Given the description of an element on the screen output the (x, y) to click on. 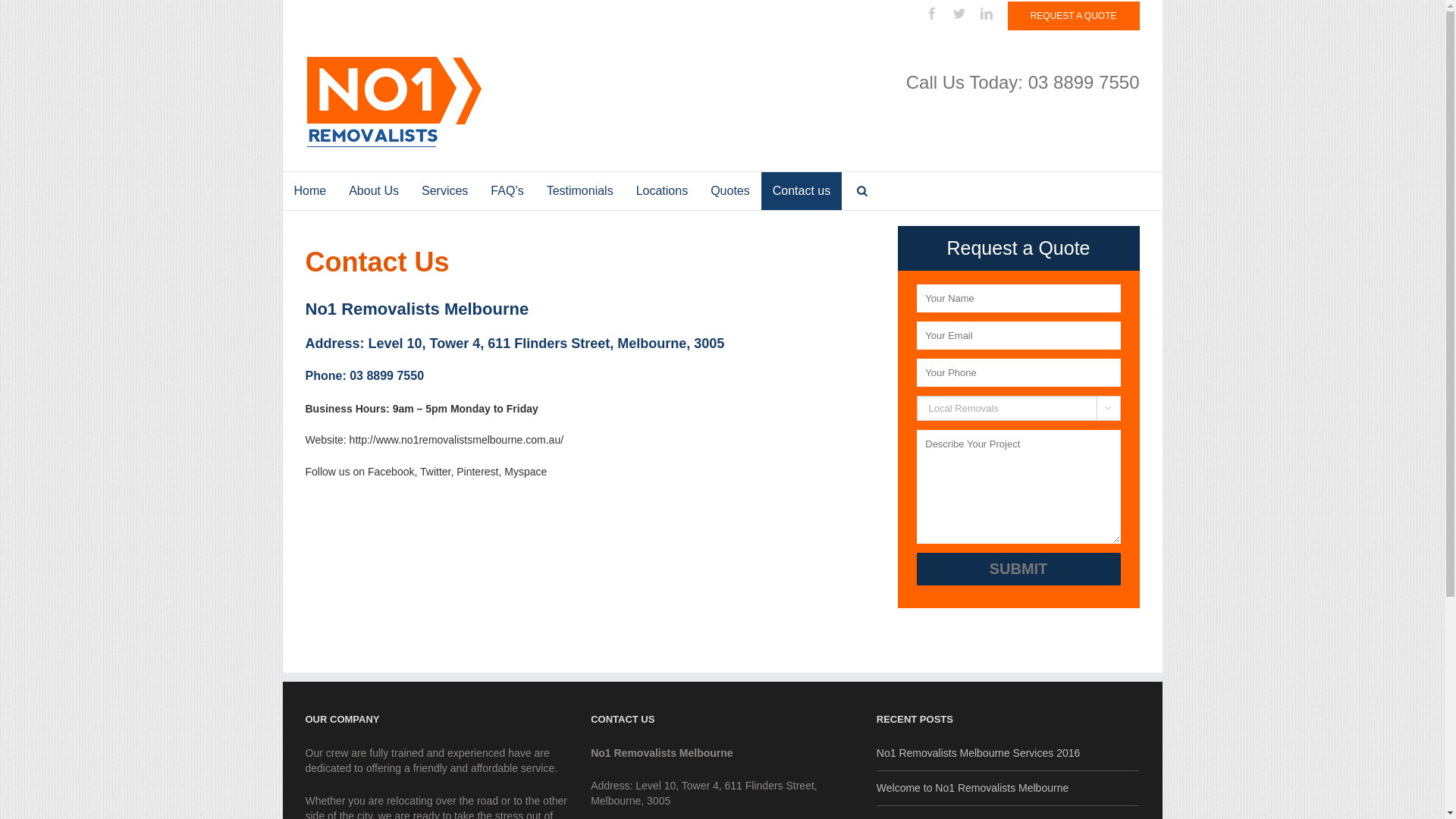
Myspace Element type: text (525, 471)
Twitter Element type: text (435, 471)
Locations Element type: text (661, 191)
SUBMIT Element type: text (1018, 568)
About Us Element type: text (373, 191)
Pinterest Element type: text (477, 471)
Services Element type: text (444, 191)
http://www.no1removalistsmelbourne.com.au/ Element type: text (456, 439)
Facebook Element type: text (390, 471)
Home Element type: text (309, 191)
Linkedin Element type: hover (986, 13)
REQUEST A QUOTE Element type: text (1073, 15)
Quotes Element type: text (730, 191)
Testimonials Element type: text (579, 191)
No1 Removalists Melbourne Services 2016 Element type: text (1007, 753)
Twitter Element type: hover (959, 13)
Welcome to No1 Removalists Melbourne Element type: text (1007, 783)
Contact us Element type: text (801, 191)
Facebook Element type: hover (931, 13)
